Given the description of an element on the screen output the (x, y) to click on. 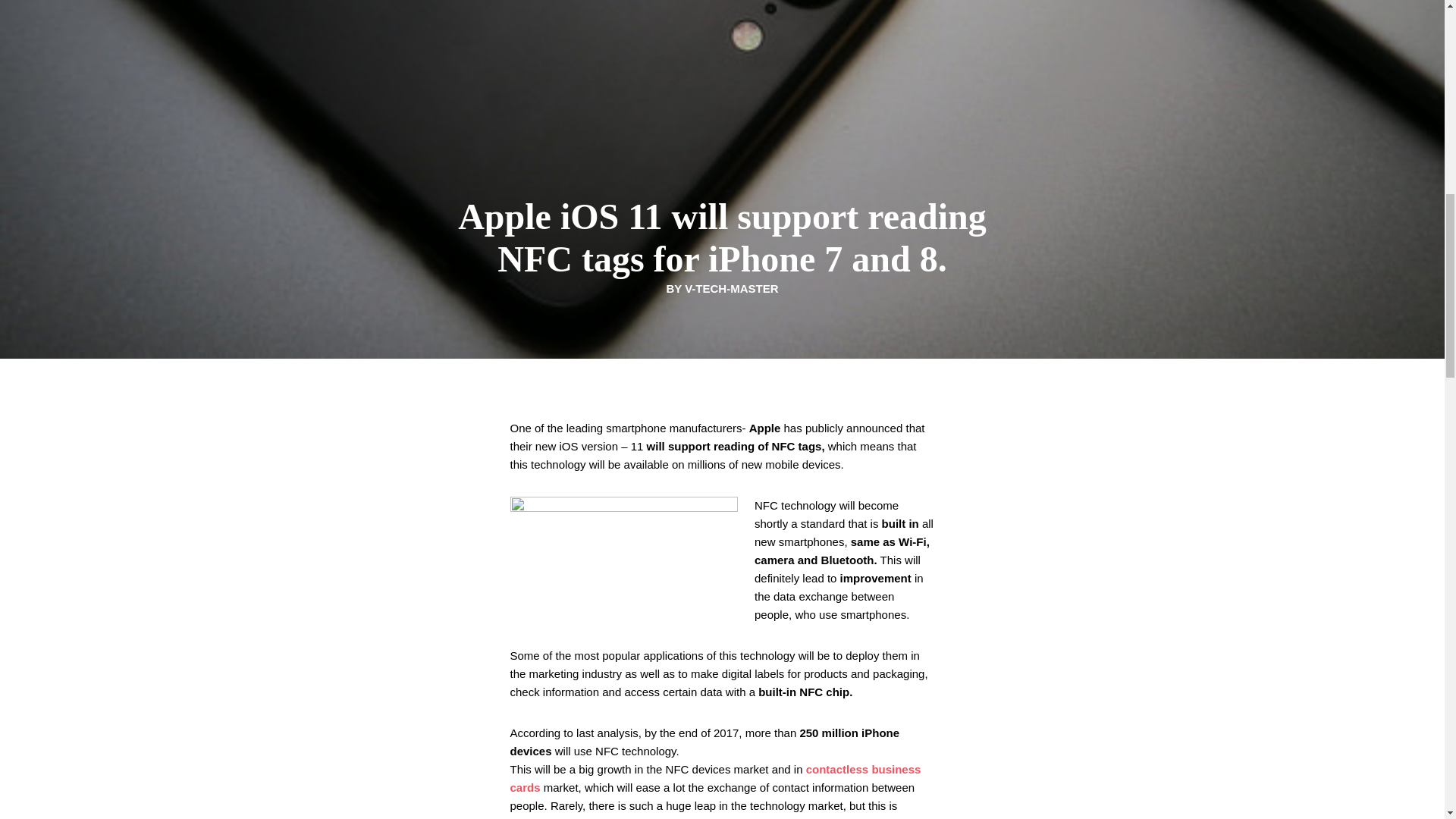
contactless business cards (714, 777)
View all posts by v-tech-master (730, 287)
V-TECH-MASTER (730, 287)
